Given the description of an element on the screen output the (x, y) to click on. 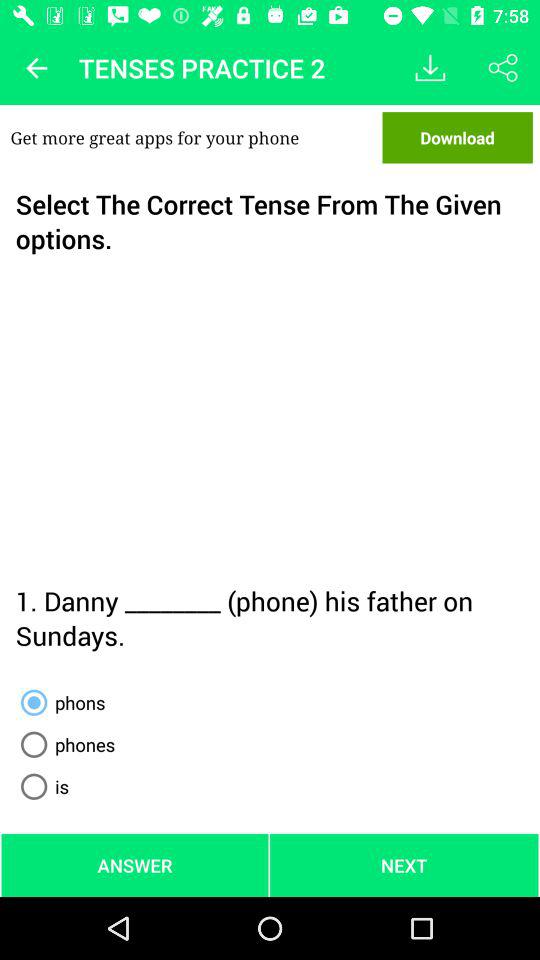
go back to previous screen (36, 68)
